Given the description of an element on the screen output the (x, y) to click on. 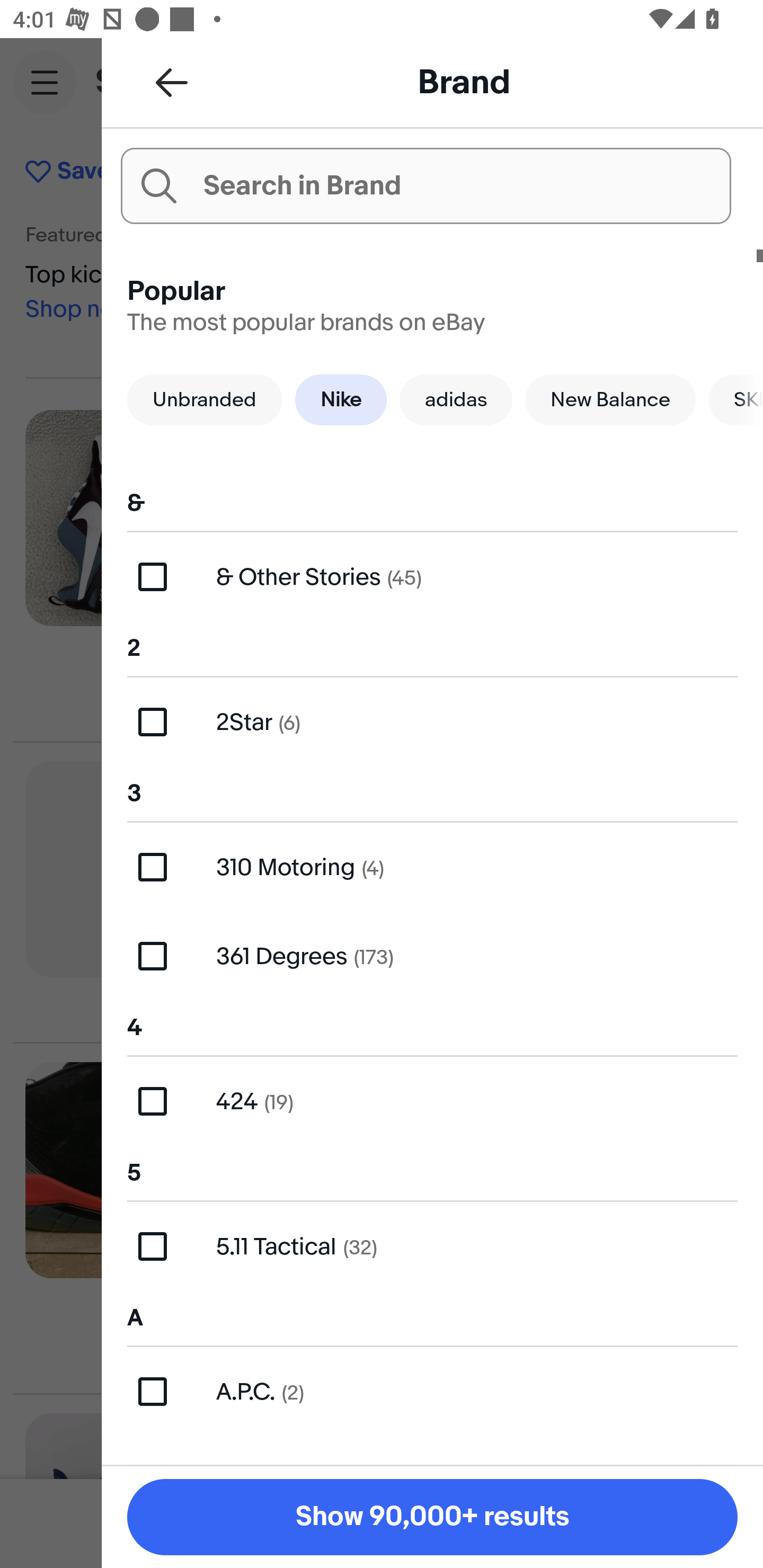
Back to all refinements (171, 81)
Search in Brand (425, 185)
Unbranded (204, 399)
Nike (340, 399)
adidas (455, 399)
New Balance (609, 399)
& Other Stories (45) (432, 576)
2Star (6) (432, 721)
310 Motoring (4) (432, 867)
361 Degrees (173) (432, 955)
424 (19) (432, 1101)
5.11 Tactical (32) (432, 1246)
A.P.C. (2) (432, 1391)
Show 90,000+ results (432, 1516)
